Given the description of an element on the screen output the (x, y) to click on. 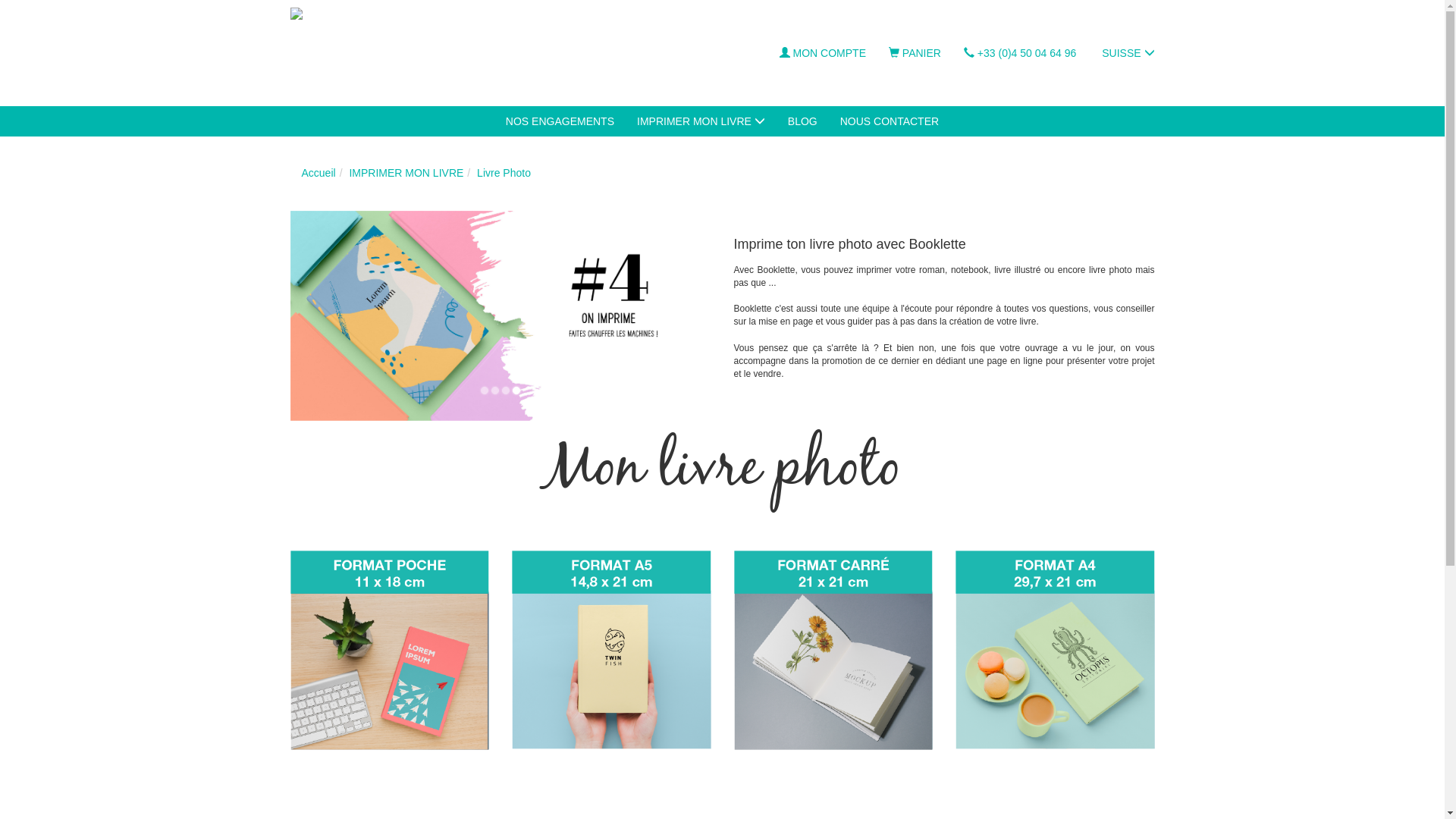
IMPRIMER MON LIVRE Element type: text (405, 172)
MON COMPTE Element type: text (822, 53)
NOUS CONTACTER Element type: text (889, 121)
SUISSE Element type: text (1126, 53)
BLOG Element type: text (802, 121)
Livre Photo Element type: text (503, 172)
IMPRIMER MON LIVRE Element type: text (700, 121)
PANIER Element type: text (914, 53)
Accueil Element type: text (318, 172)
NOS ENGAGEMENTS Element type: text (559, 121)
+33 (0)4 50 04 64 96 Element type: text (1019, 53)
